Given the description of an element on the screen output the (x, y) to click on. 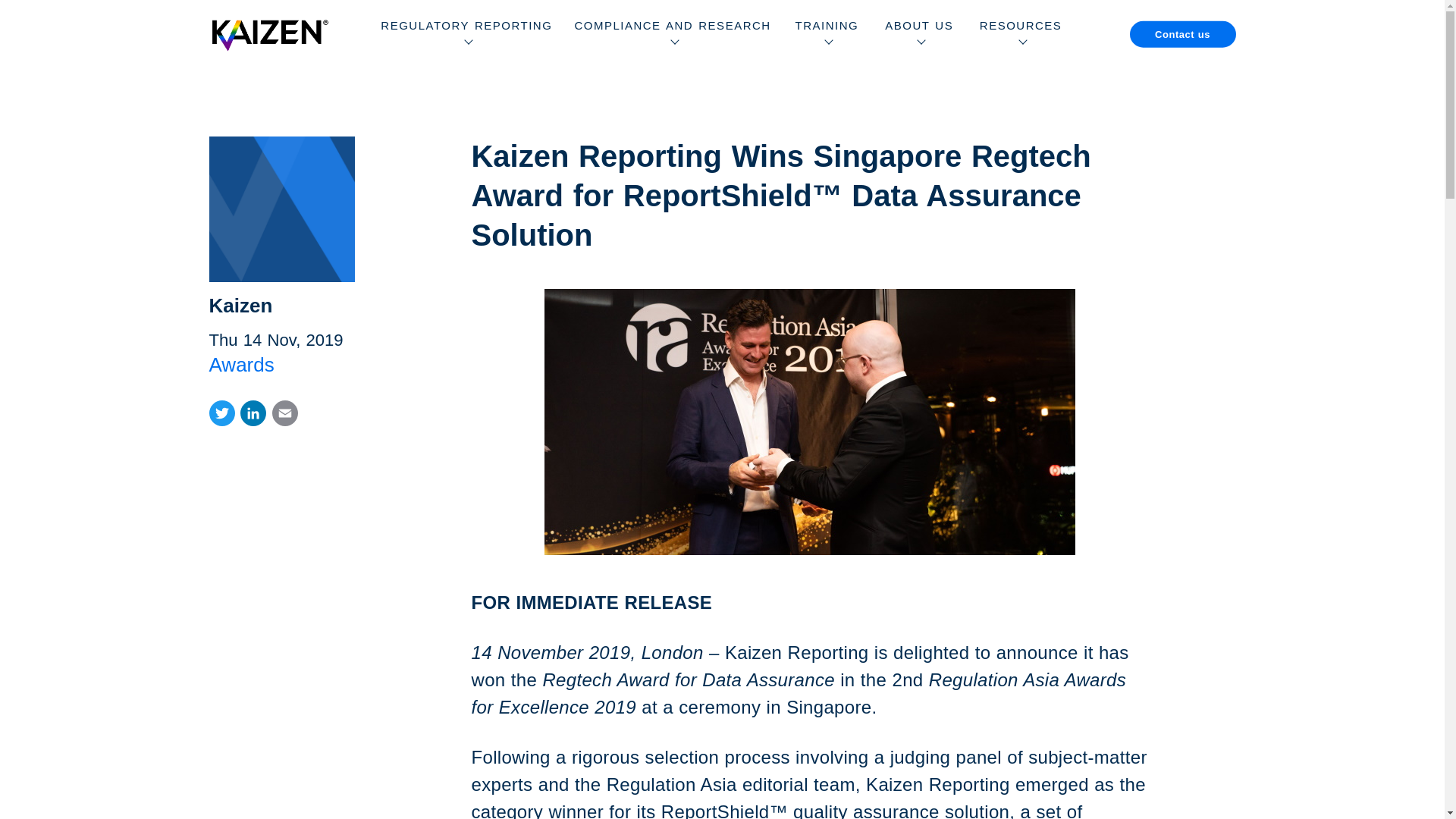
TRAINING (826, 33)
ABOUT US (919, 33)
REGULATORY REPORTING (465, 33)
COMPLIANCE AND RESEARCH (672, 33)
